Given the description of an element on the screen output the (x, y) to click on. 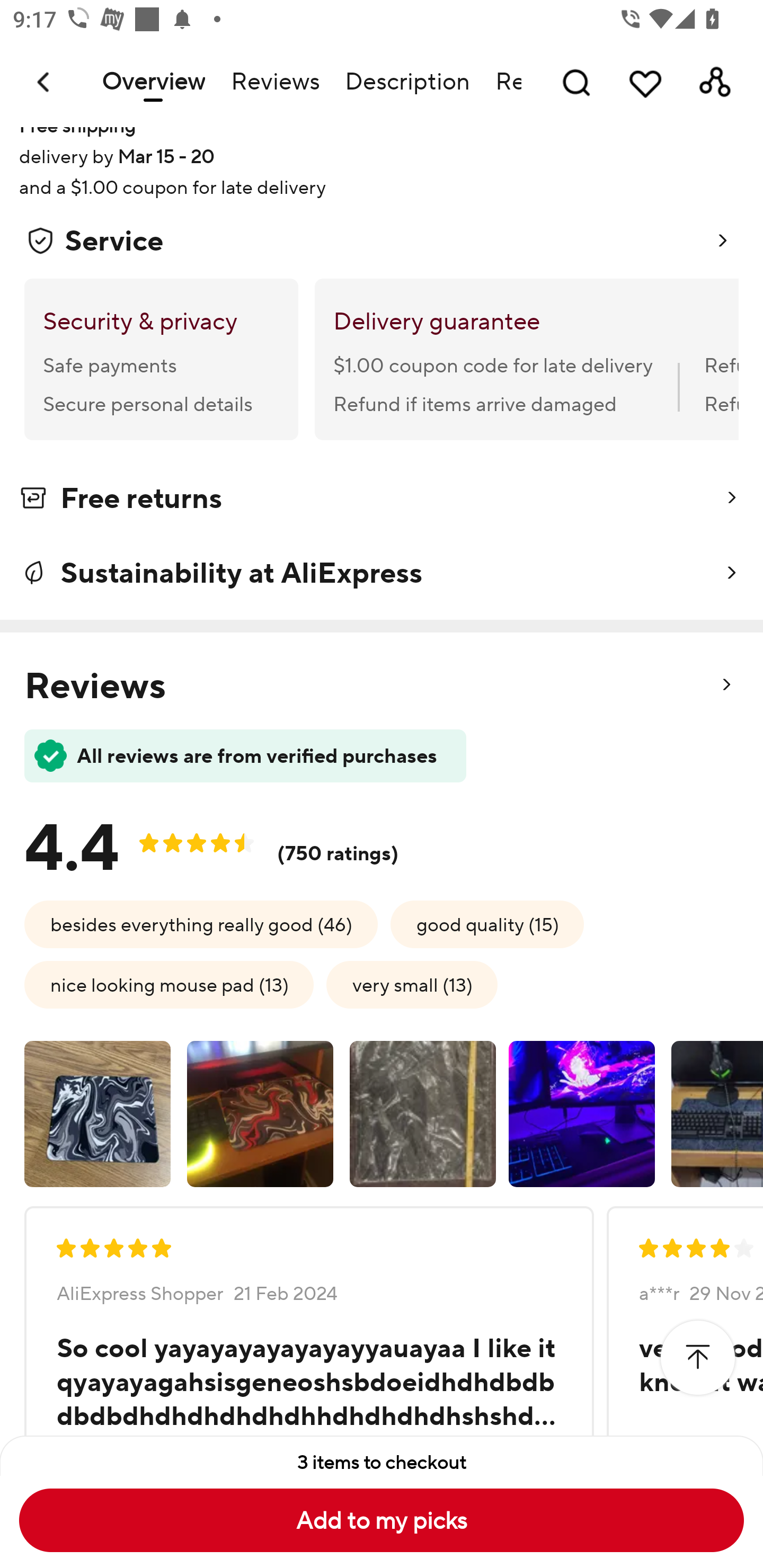
Navigate up (44, 82)
Reviews (274, 81)
Description (406, 81)
Free returns  (381, 500)
Sustainability at AliExpress  (381, 572)
4.4 44.0 (750 ratings) (225, 841)
besides everything really good (46) (200, 924)
good quality (15) (486, 924)
nice looking mouse pad (13) (168, 984)
very small (13) (411, 984)
 (697, 1357)
Add to my picks (381, 1520)
